Given the description of an element on the screen output the (x, y) to click on. 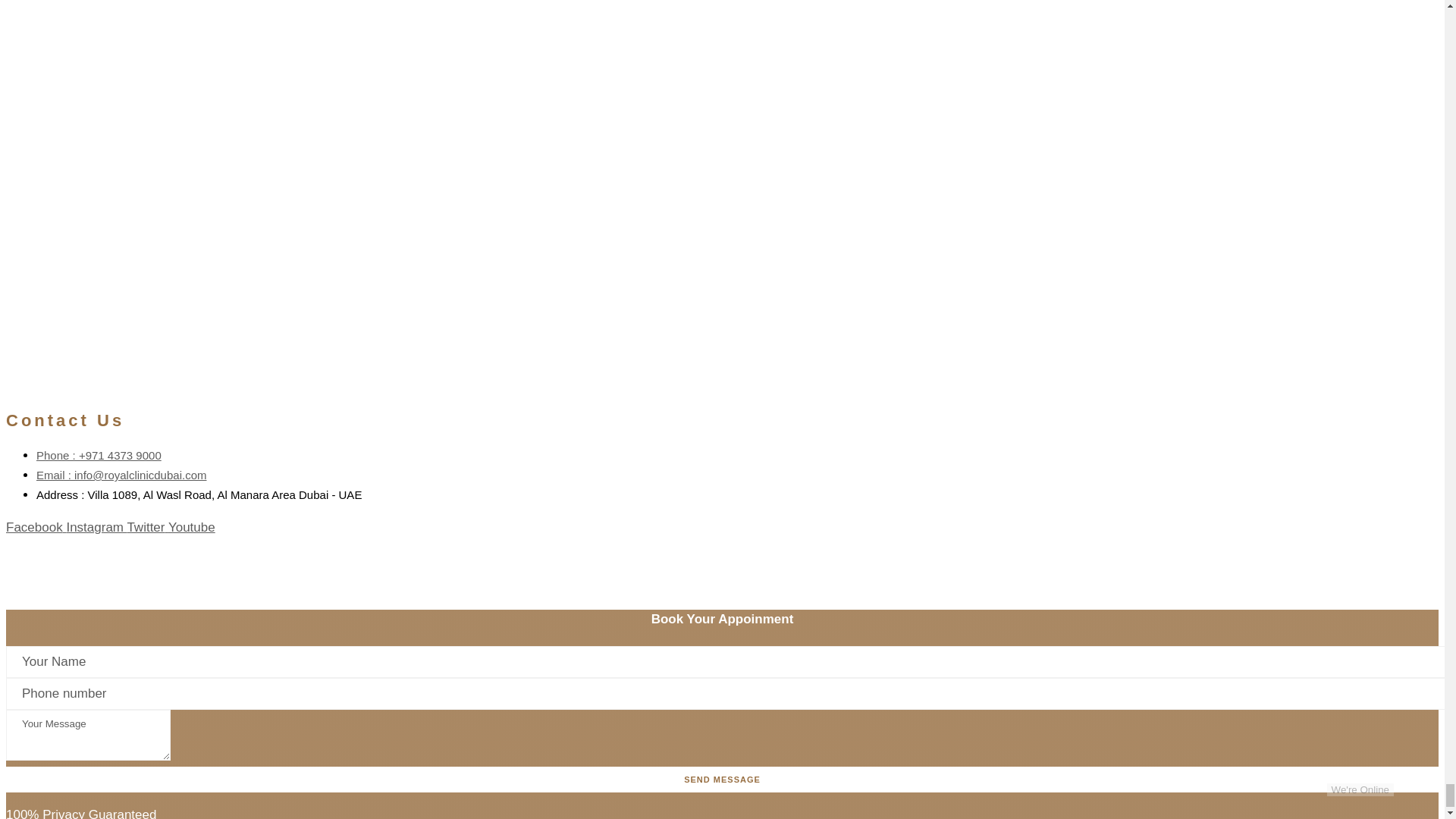
Send message (721, 779)
